Given the description of an element on the screen output the (x, y) to click on. 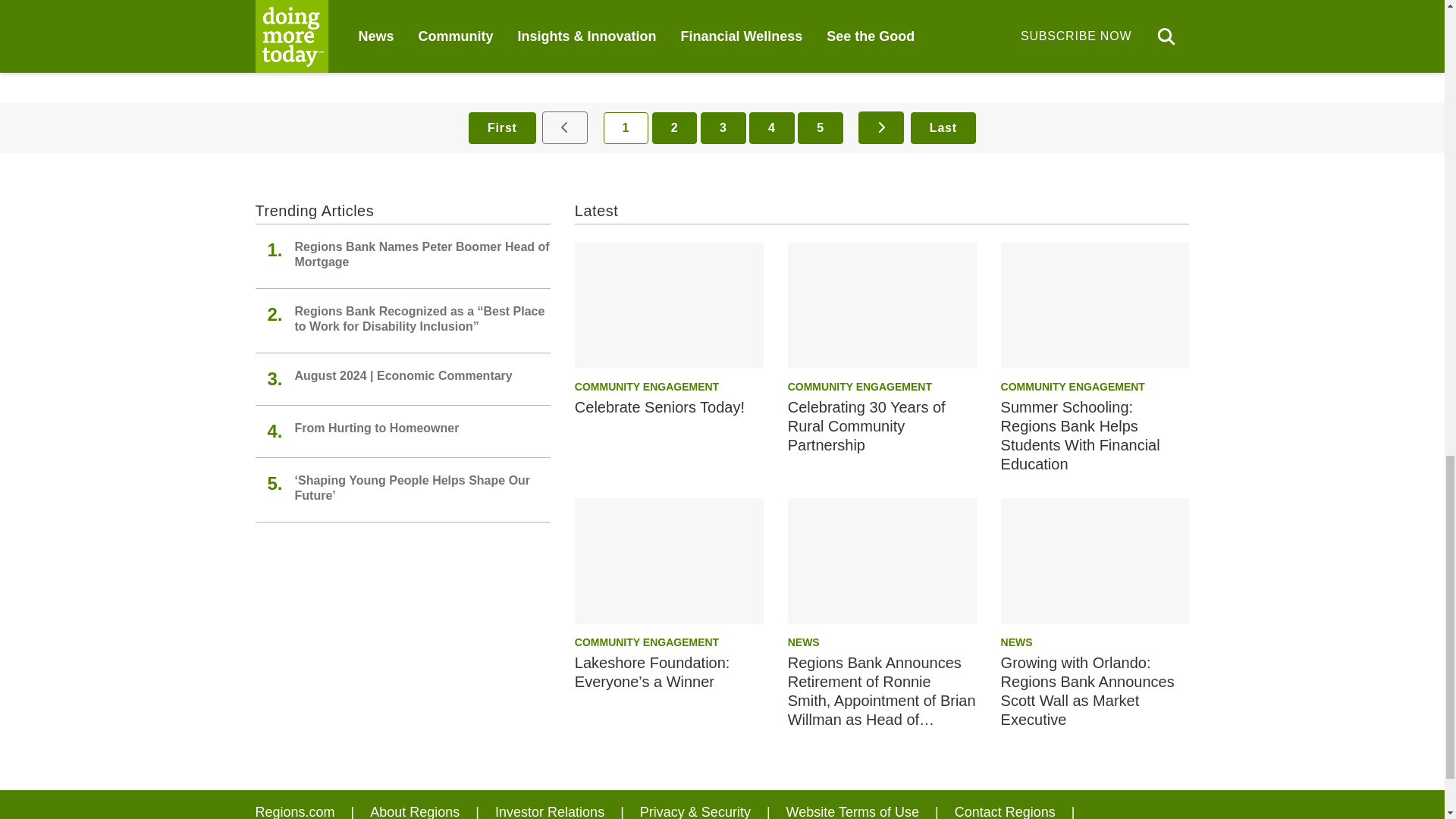
Celebrate Seniors Today! (668, 305)
Celebrating 30 Years of Rural Community Partnership (881, 305)
